Given the description of an element on the screen output the (x, y) to click on. 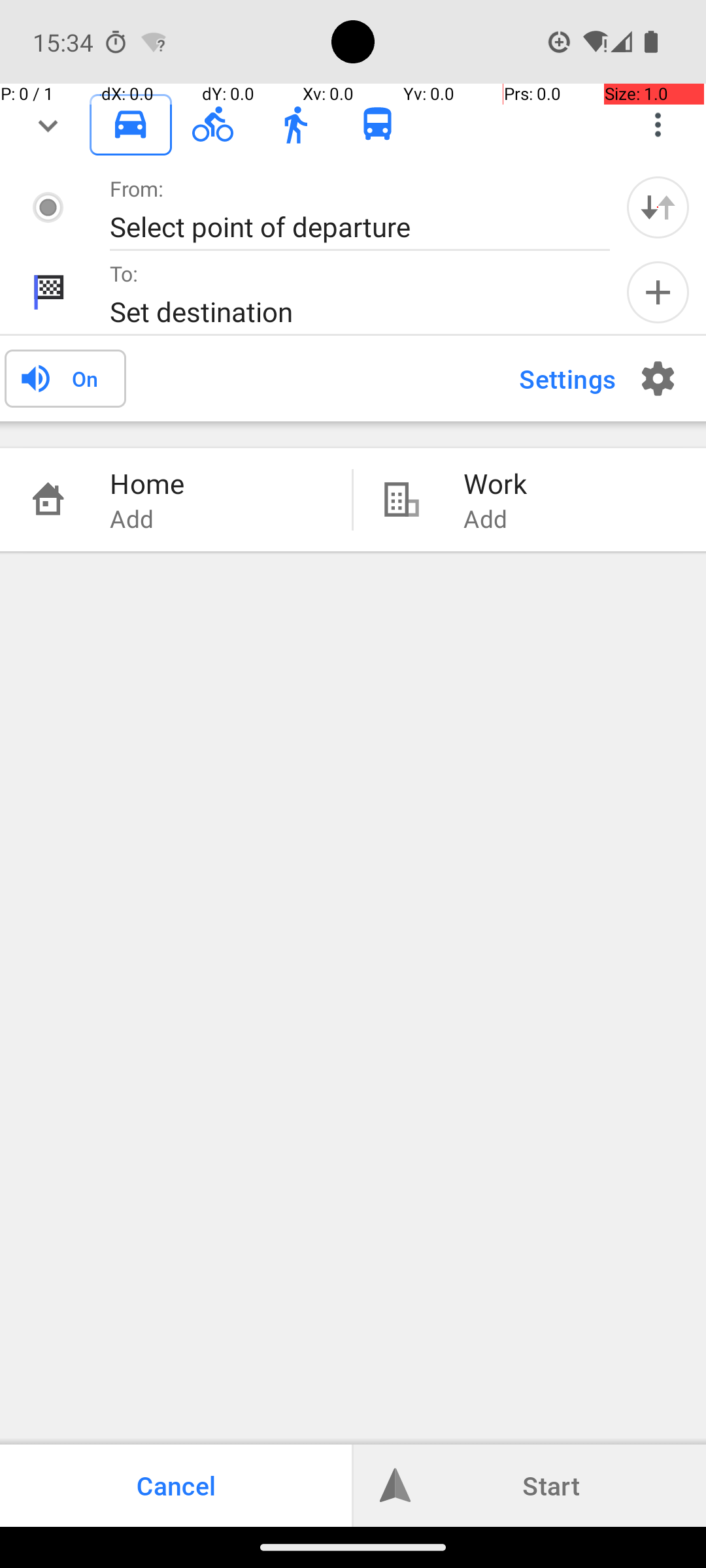
Driving checked Element type: android.widget.ImageView (130, 124)
